Given the description of an element on the screen output the (x, y) to click on. 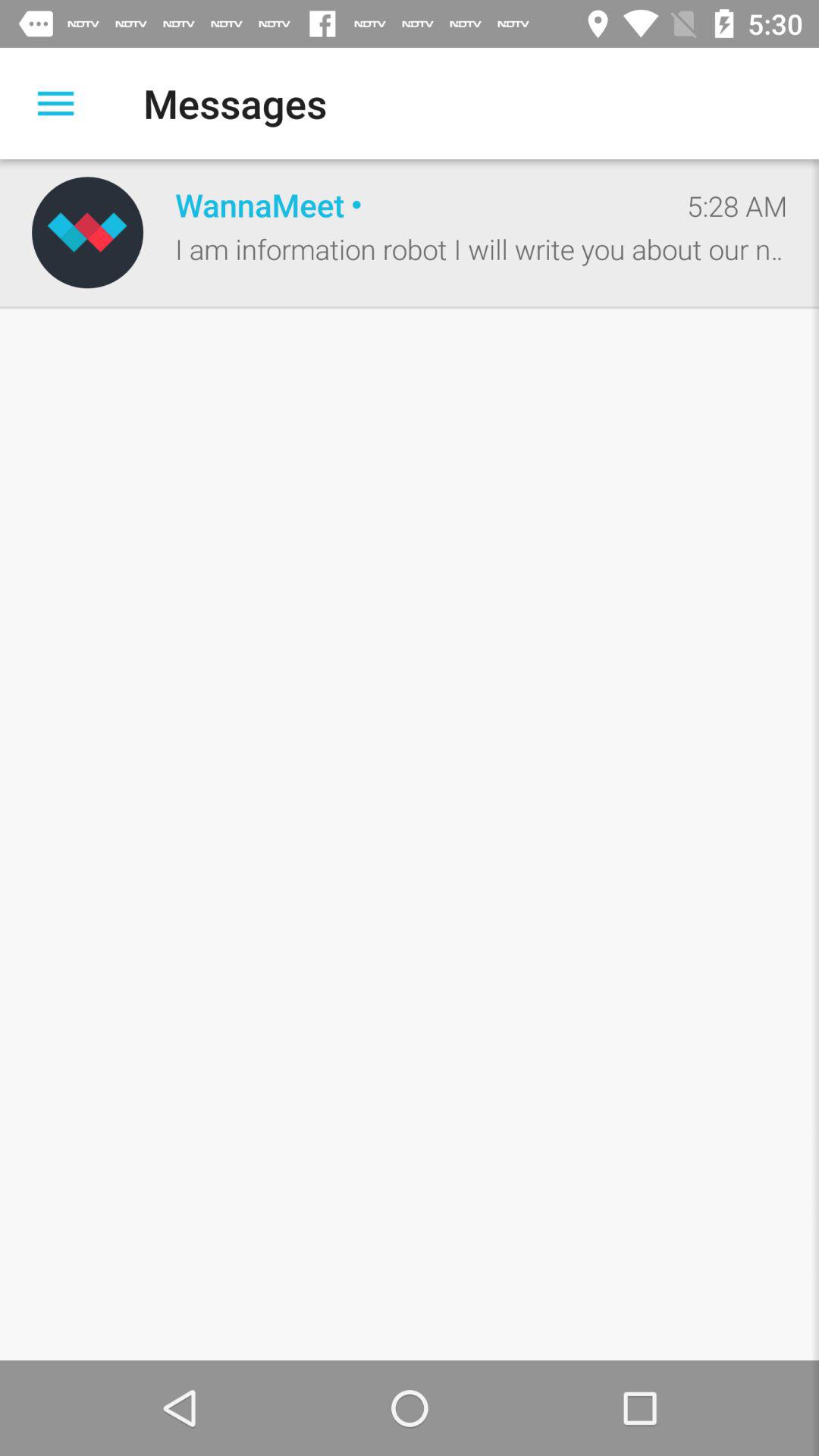
turn off icon above the i am information icon (737, 205)
